Given the description of an element on the screen output the (x, y) to click on. 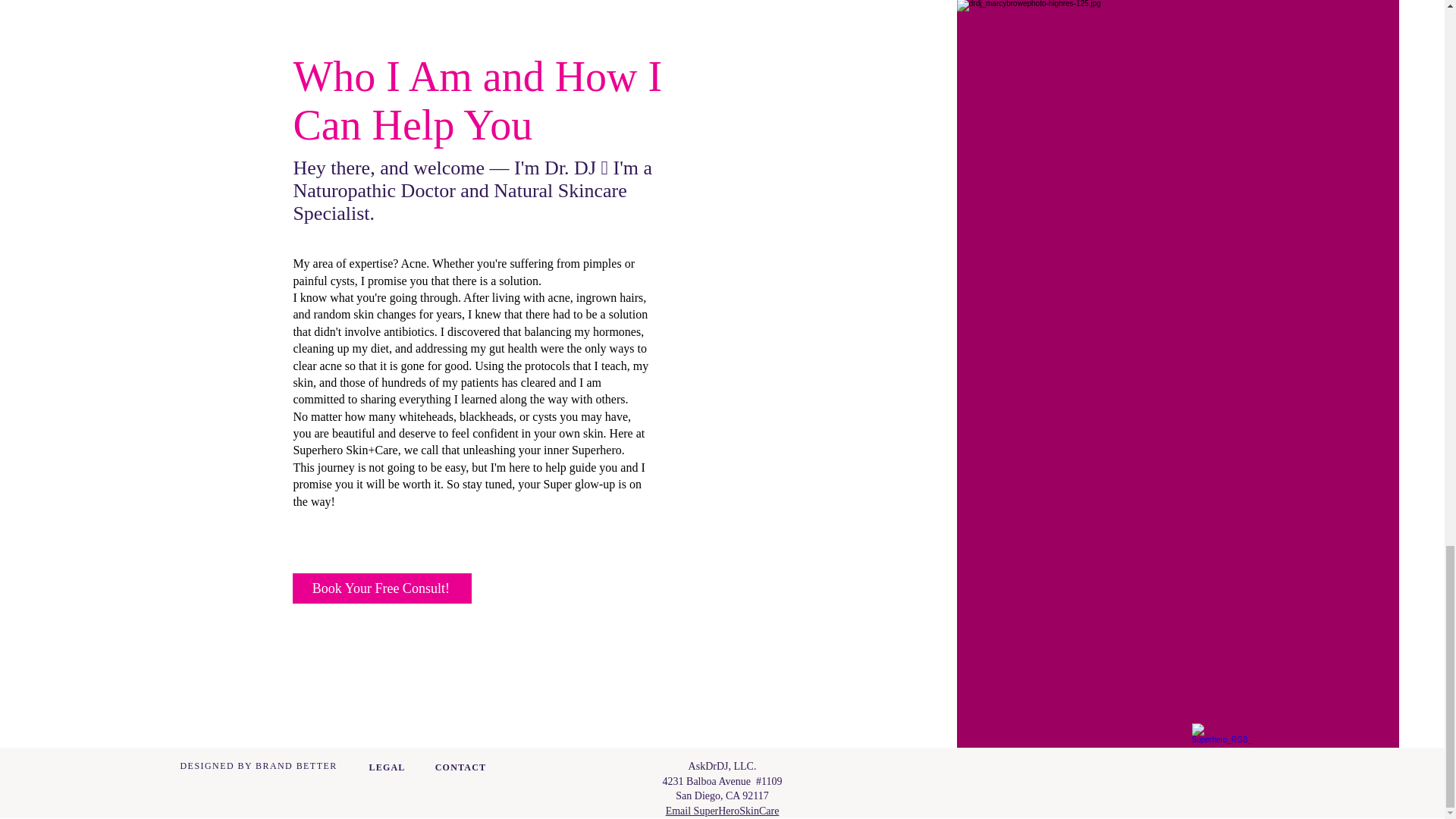
LEGAL (386, 767)
Book Your Free Consult! (381, 588)
Email SuperHeroSkinCare (721, 810)
DESIGNED BY BRAND BETTER (258, 765)
CONTACT (460, 767)
